Given the description of an element on the screen output the (x, y) to click on. 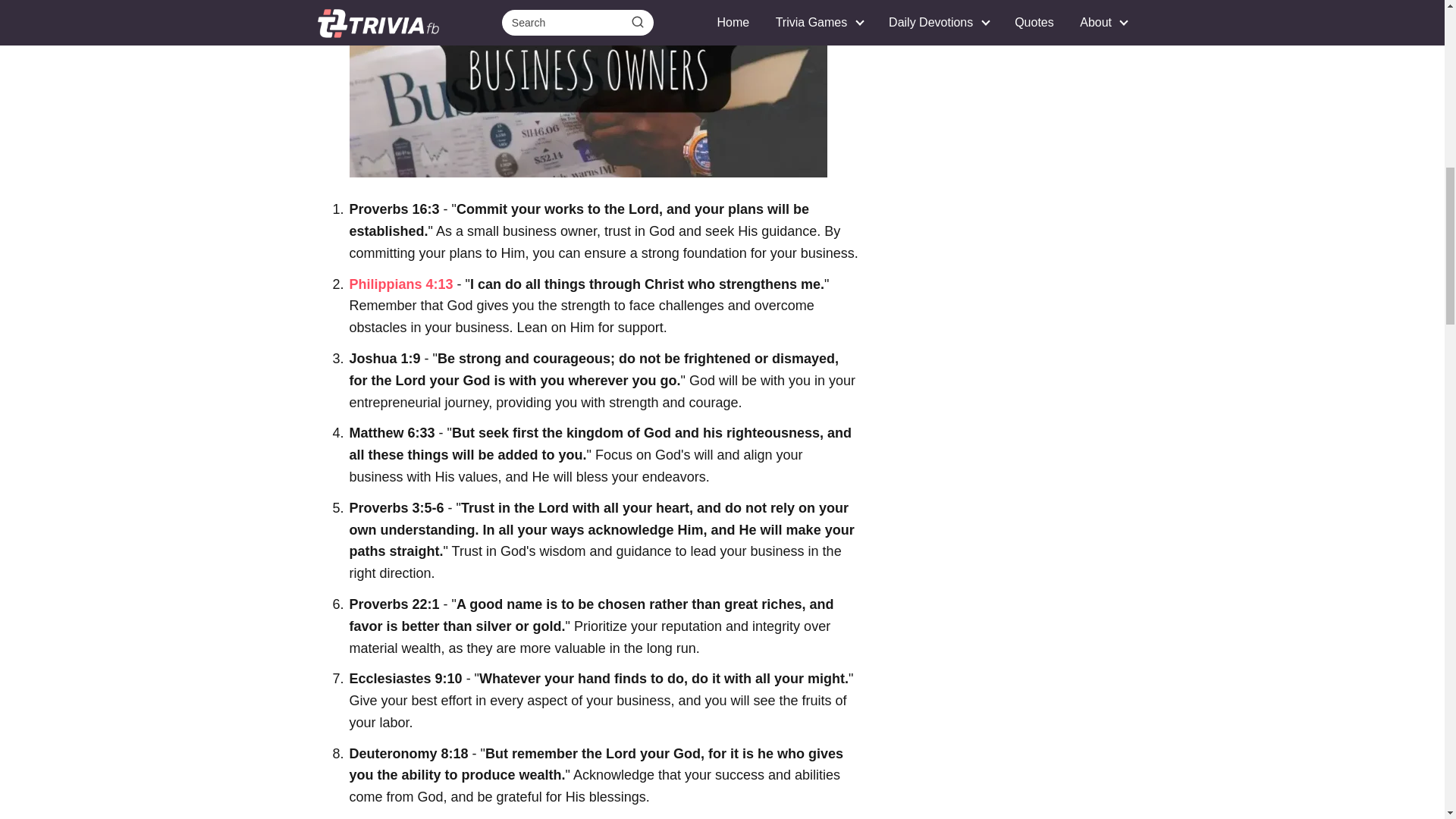
20 Bible Verses For Small Business Owners 1 (588, 88)
Philippians 4:13 (400, 283)
